Given the description of an element on the screen output the (x, y) to click on. 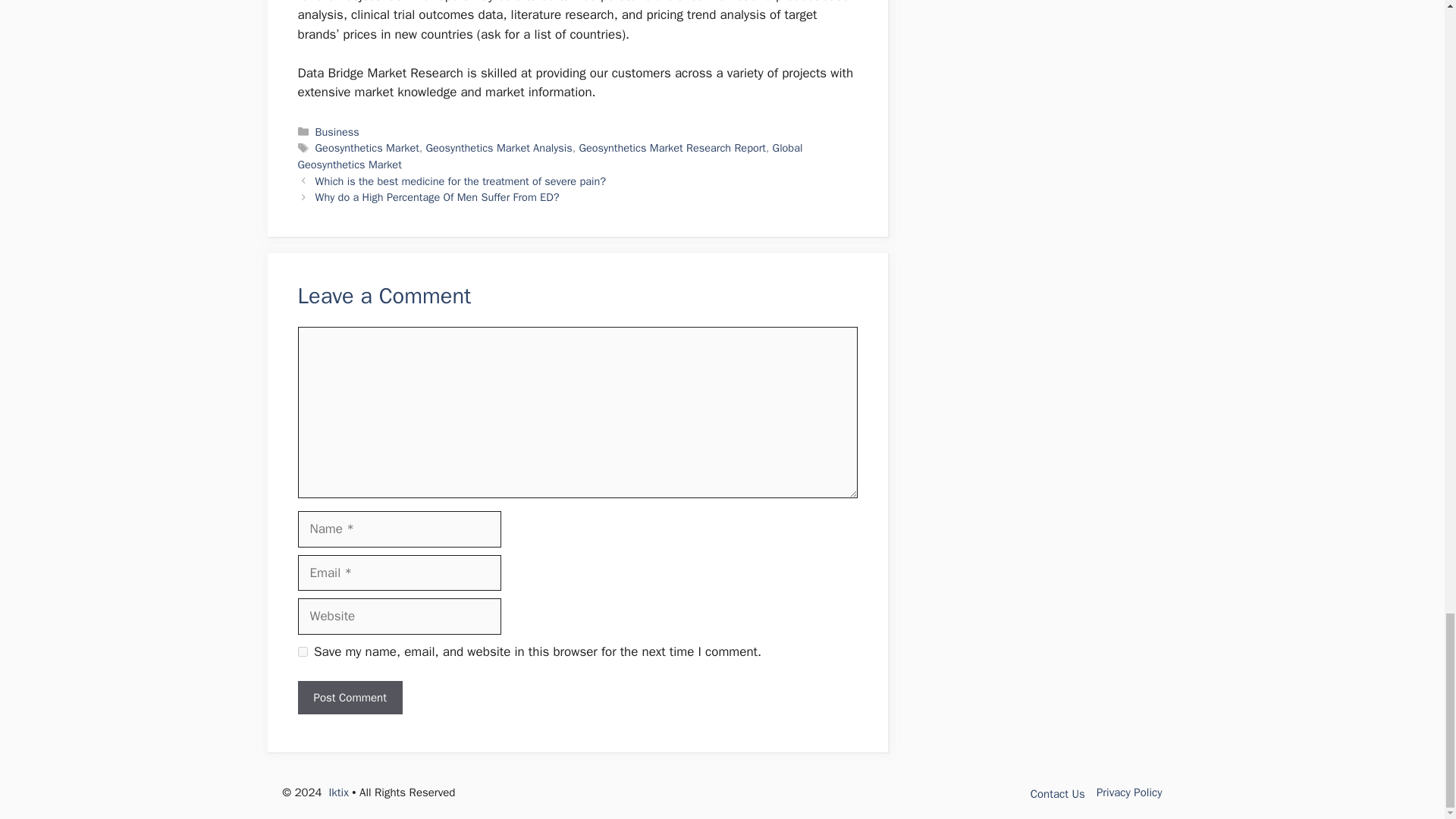
Post Comment (349, 697)
Global Geosynthetics Market (549, 155)
yes (302, 651)
Business (337, 131)
Geosynthetics Market (367, 147)
Geosynthetics Market Analysis (499, 147)
Why do a High Percentage Of Men Suffer From ED? (437, 196)
Geosynthetics Market Research Report (671, 147)
Post Comment (349, 697)
Which is the best medicine for the treatment of severe pain? (460, 181)
